Given the description of an element on the screen output the (x, y) to click on. 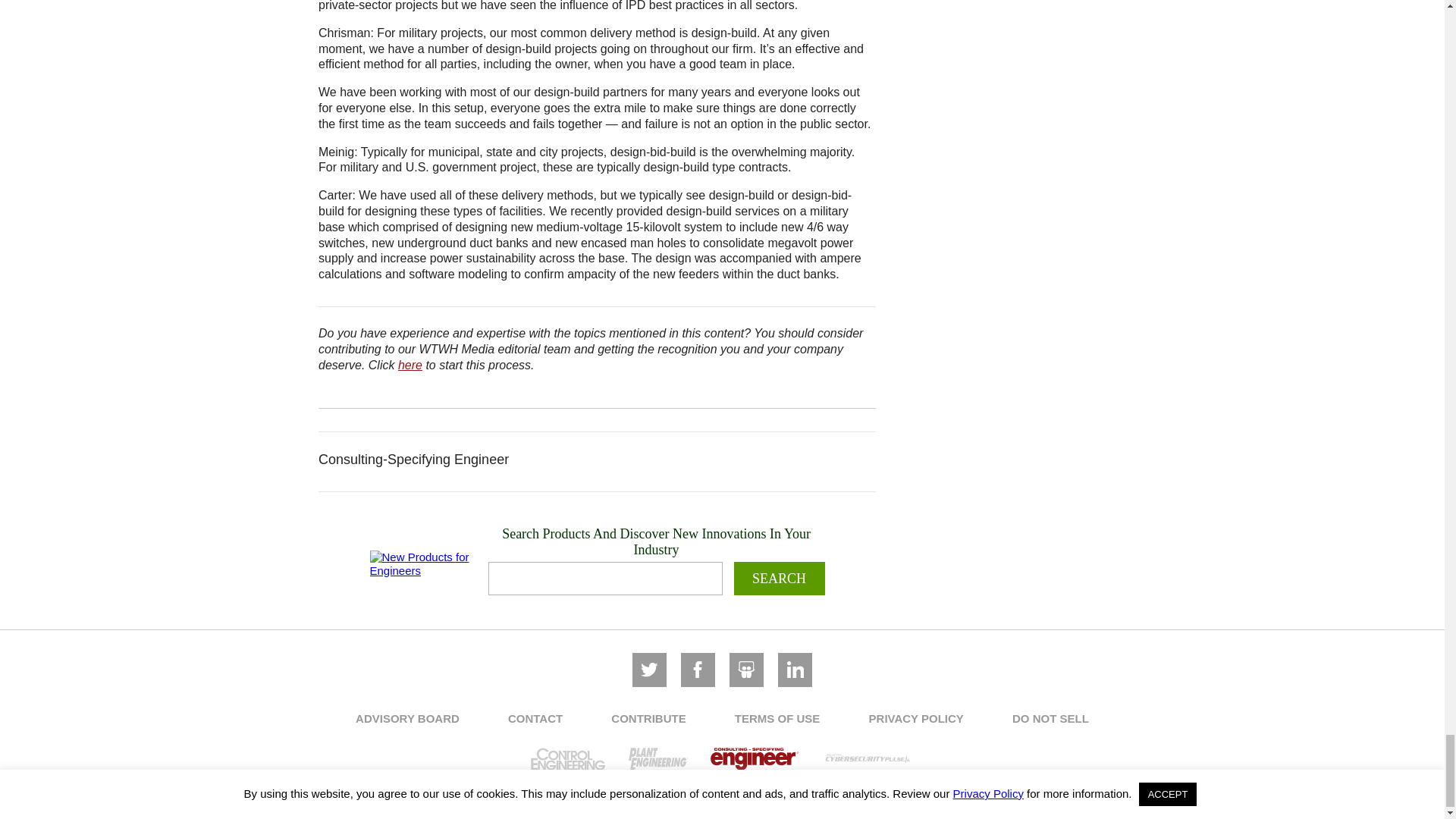
How to Contribute (409, 364)
